Given the description of an element on the screen output the (x, y) to click on. 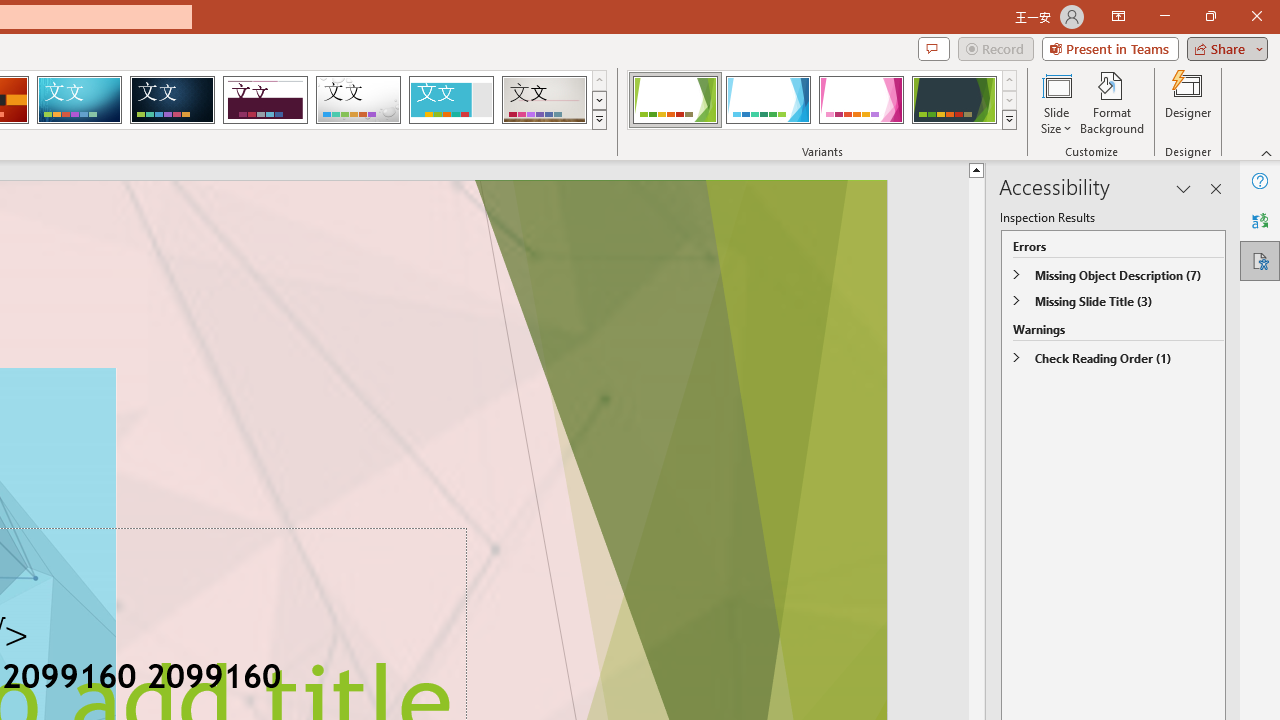
Gallery (544, 100)
Slide Size (1056, 102)
Themes (598, 120)
Facet Variant 1 (674, 100)
Variants (1009, 120)
Facet Variant 4 (953, 100)
Dividend (265, 100)
Damask (171, 100)
